Given the description of an element on the screen output the (x, y) to click on. 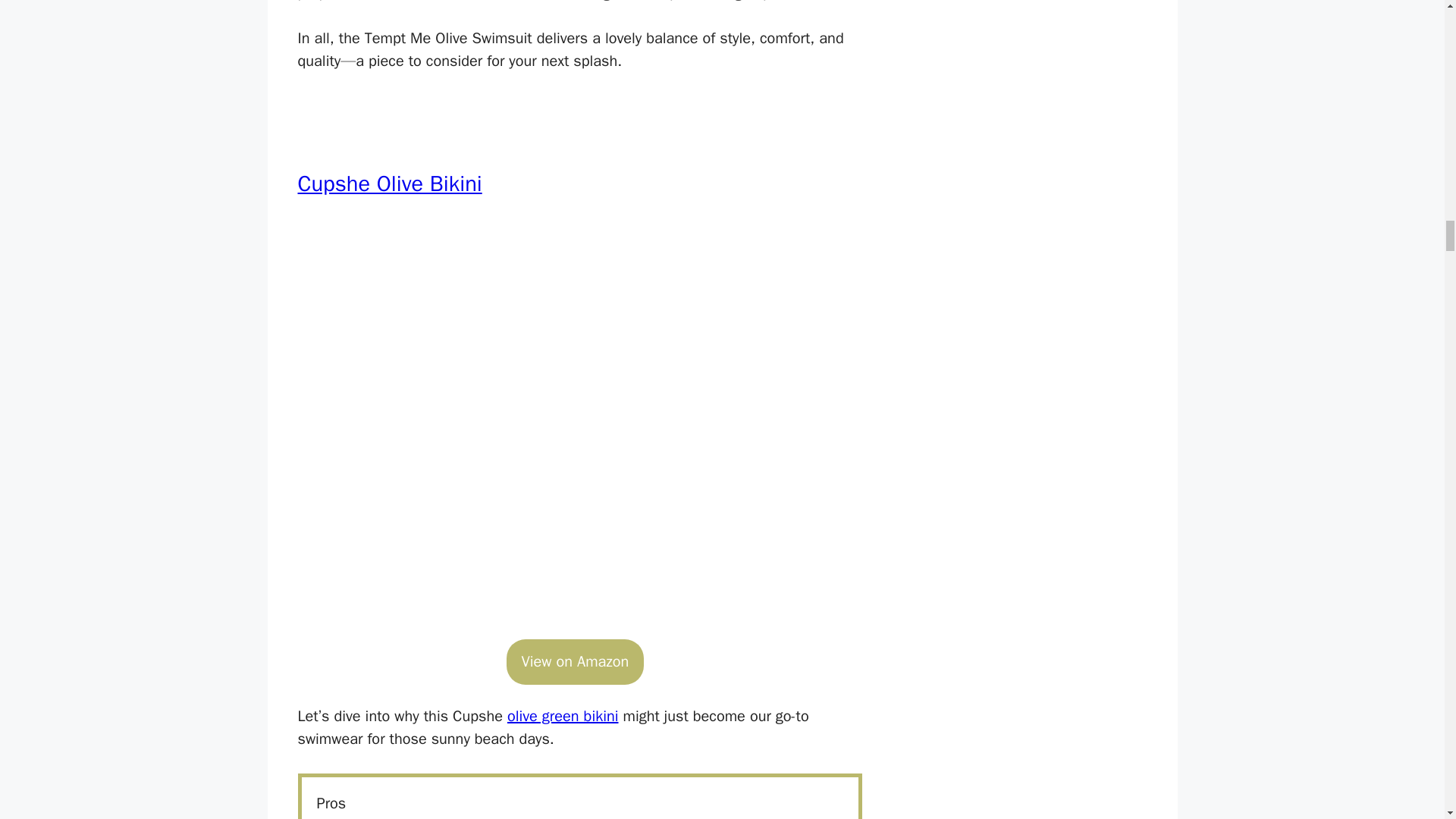
Best Olive Green Swimsuit Choices for Your Summer Wardrobe 4 (580, 434)
